Given the description of an element on the screen output the (x, y) to click on. 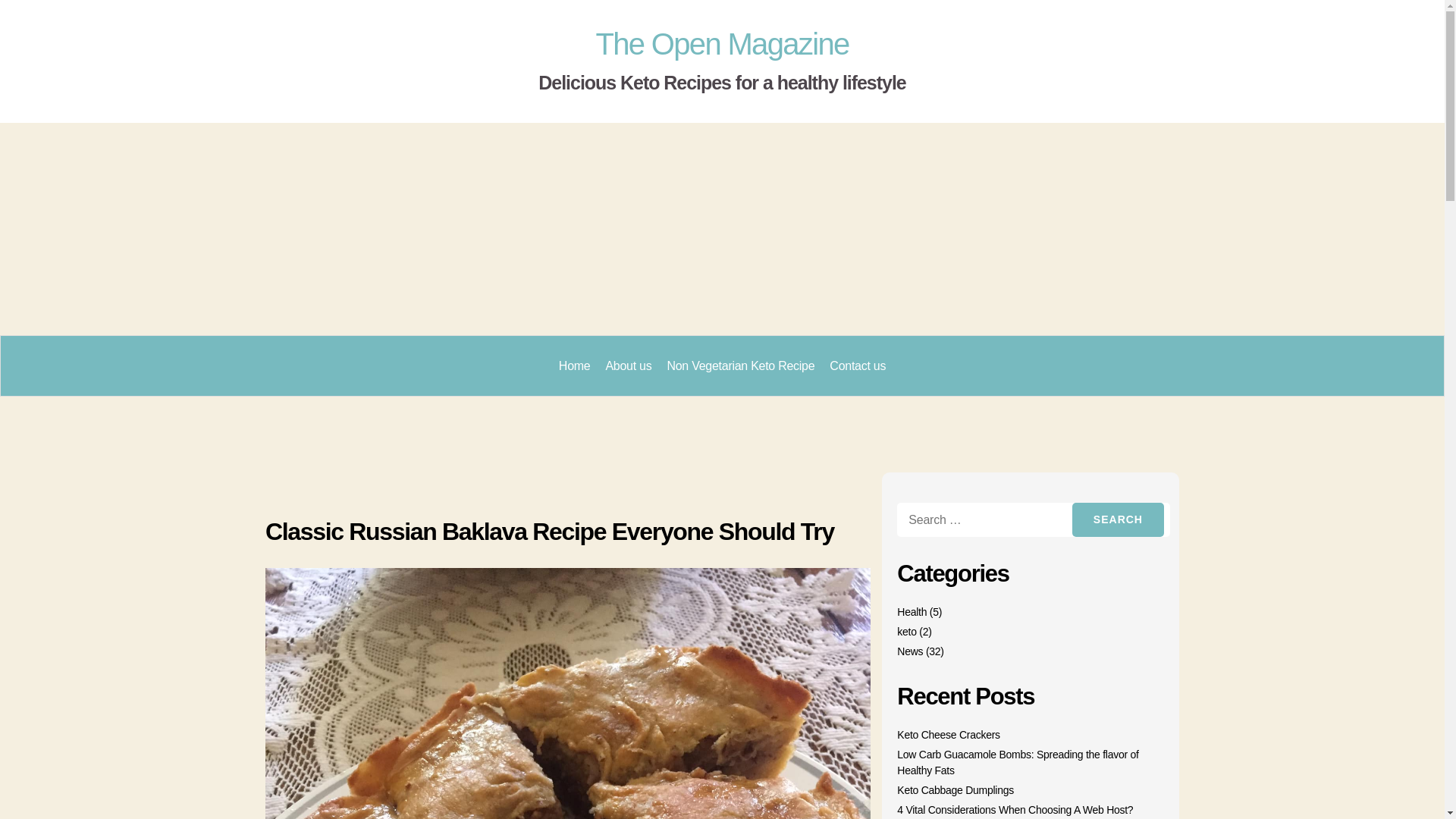
Home (574, 366)
Search (1117, 519)
Keto Cheese Crackers (947, 734)
Keto Cabbage Dumplings (954, 789)
Health (911, 612)
Search (1117, 519)
keto (905, 631)
The Open Magazine (721, 43)
Non Vegetarian Keto Recipe (740, 366)
Search (1117, 519)
About us (627, 366)
4 Vital Considerations When Choosing A Web Host? (1014, 809)
News (909, 651)
Contact us (857, 366)
